Given the description of an element on the screen output the (x, y) to click on. 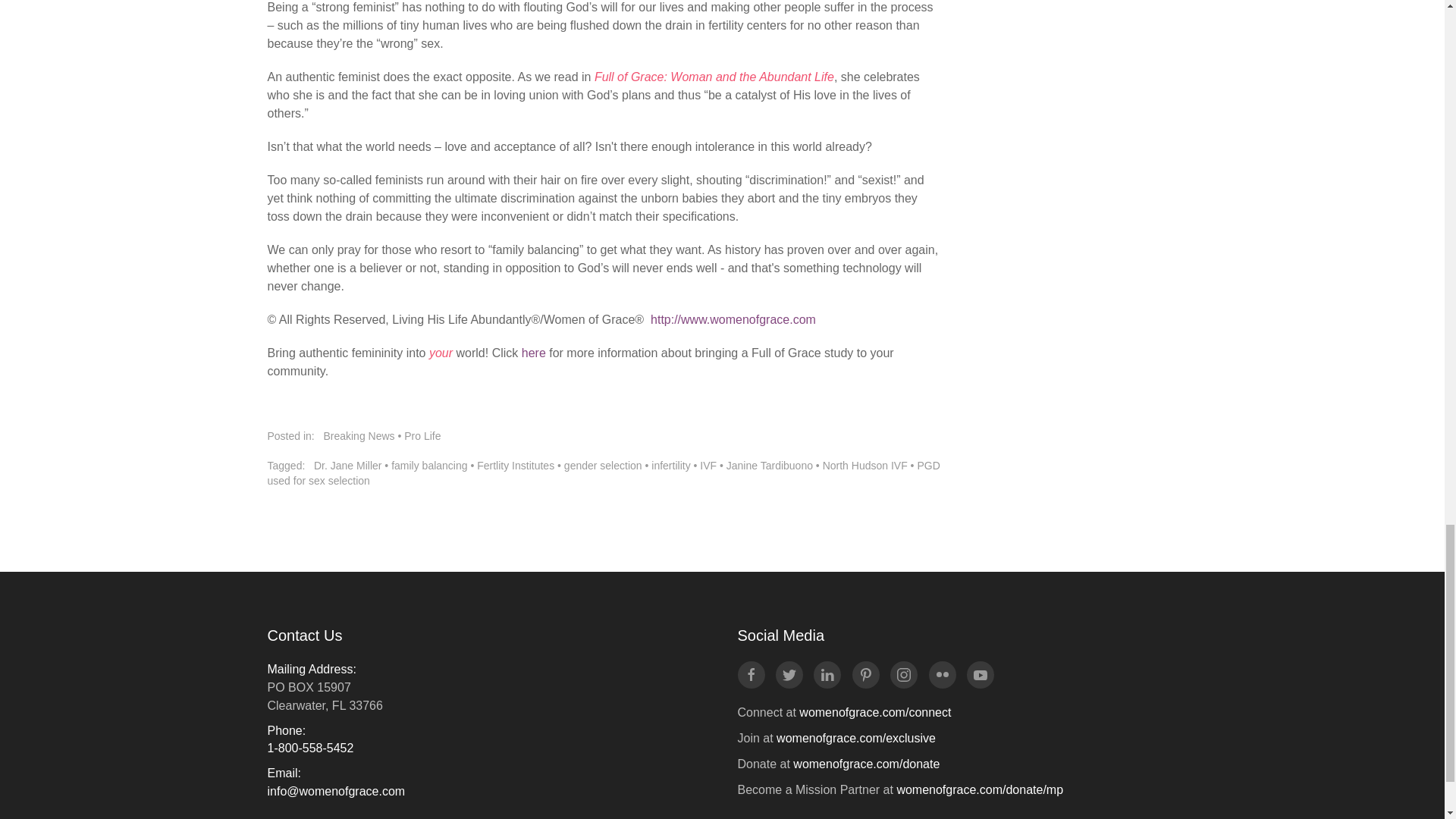
here (533, 352)
family balancing (429, 465)
Pro Life (422, 435)
Full of Grace: Woman and the Abundant Life (714, 76)
Breaking News (358, 435)
Dr. Jane Miller (347, 465)
